Given the description of an element on the screen output the (x, y) to click on. 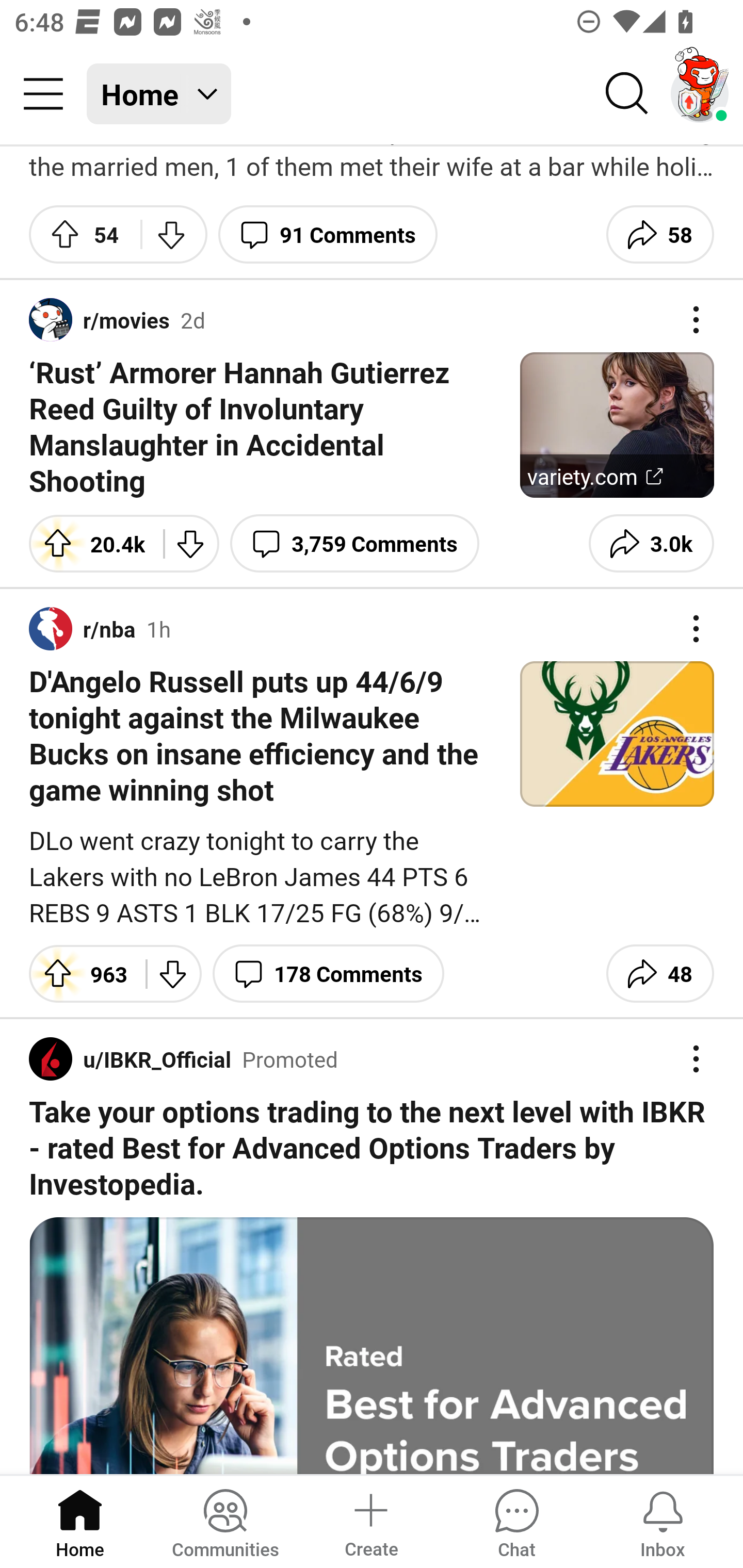
Community menu (43, 93)
Home Home feed (158, 93)
Search (626, 93)
TestAppium002 account (699, 93)
Home (80, 1520)
Communities (225, 1520)
Create a post Create (370, 1520)
Chat (516, 1520)
Inbox (662, 1520)
